Given the description of an element on the screen output the (x, y) to click on. 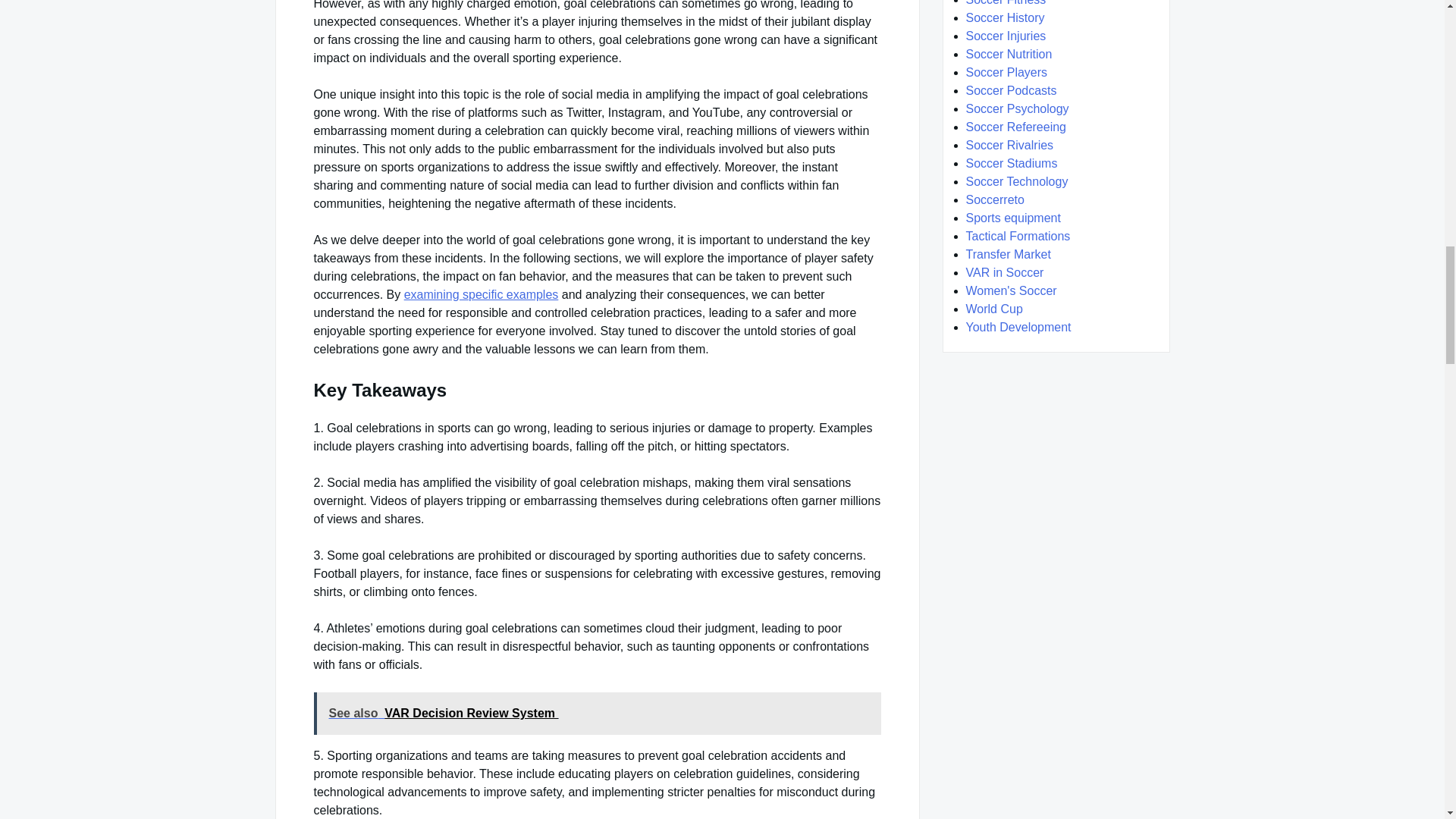
examining specific examples (481, 294)
See also  VAR Decision Review System  (597, 713)
